Given the description of an element on the screen output the (x, y) to click on. 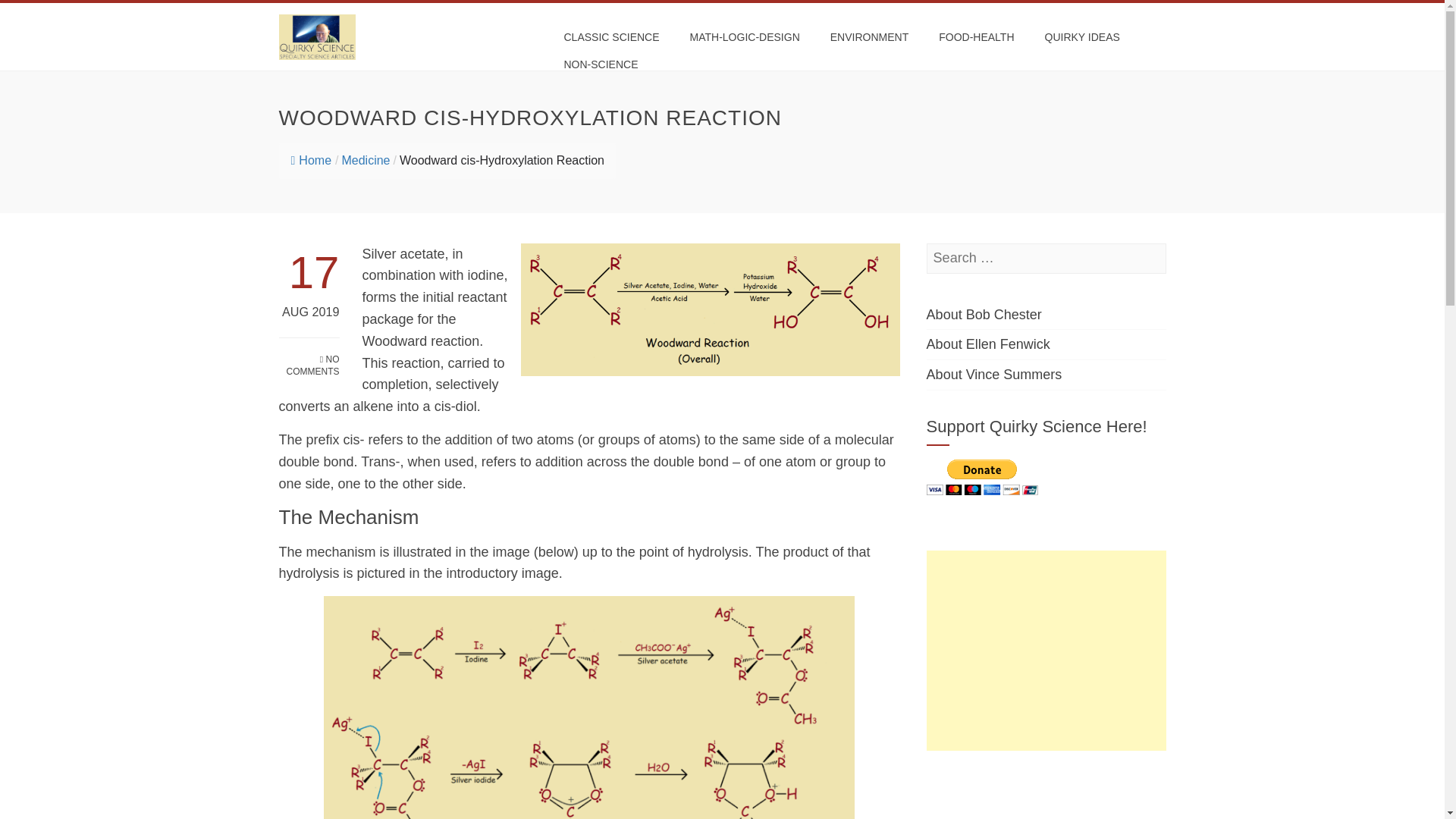
Search (37, 15)
About Bob Chester (984, 314)
FOOD-HEALTH (976, 36)
ENVIRONMENT (869, 36)
NON-SCIENCE (600, 63)
Medicine (365, 160)
MATH-LOGIC-DESIGN (744, 36)
Woodward cis-Hydroxylation Reaction (501, 160)
Advertisement (1046, 790)
About Ellen Fenwick (987, 344)
QUIRKY IDEAS (1082, 36)
NO COMMENTS (309, 358)
CLASSIC SCIENCE (610, 36)
PayPal - The safer, easier way to pay online! (982, 477)
About Vince Summers (994, 374)
